Given the description of an element on the screen output the (x, y) to click on. 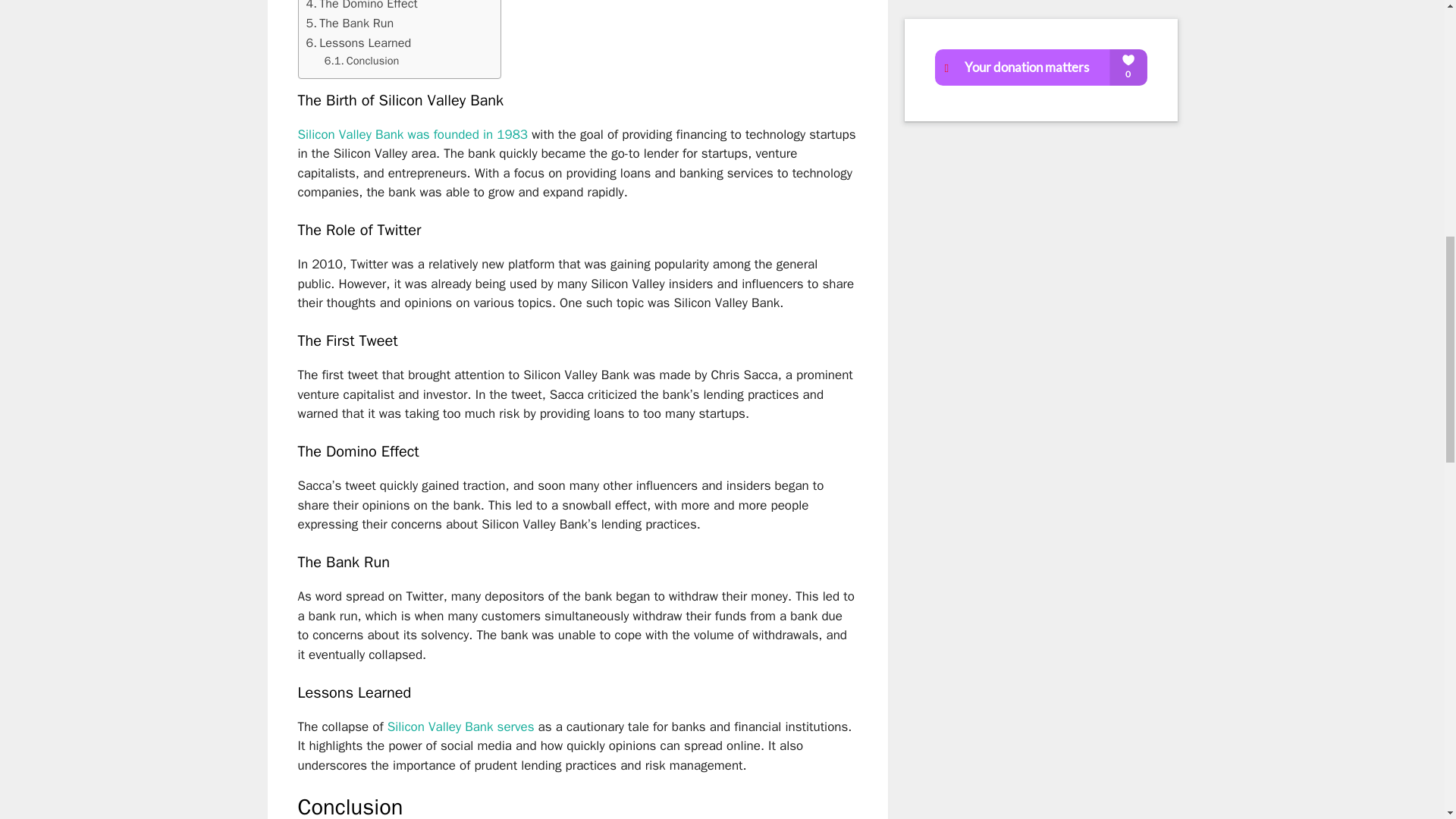
The Domino Effect (361, 6)
Lessons Learned (358, 43)
Silicon Valley Bank serves (460, 726)
Conclusion (361, 60)
The Bank Run (349, 23)
Silicon Valley Bank was founded in 1983 (412, 134)
Conclusion (361, 60)
The Bank Run (349, 23)
The Domino Effect (361, 6)
Lessons Learned (358, 43)
